Given the description of an element on the screen output the (x, y) to click on. 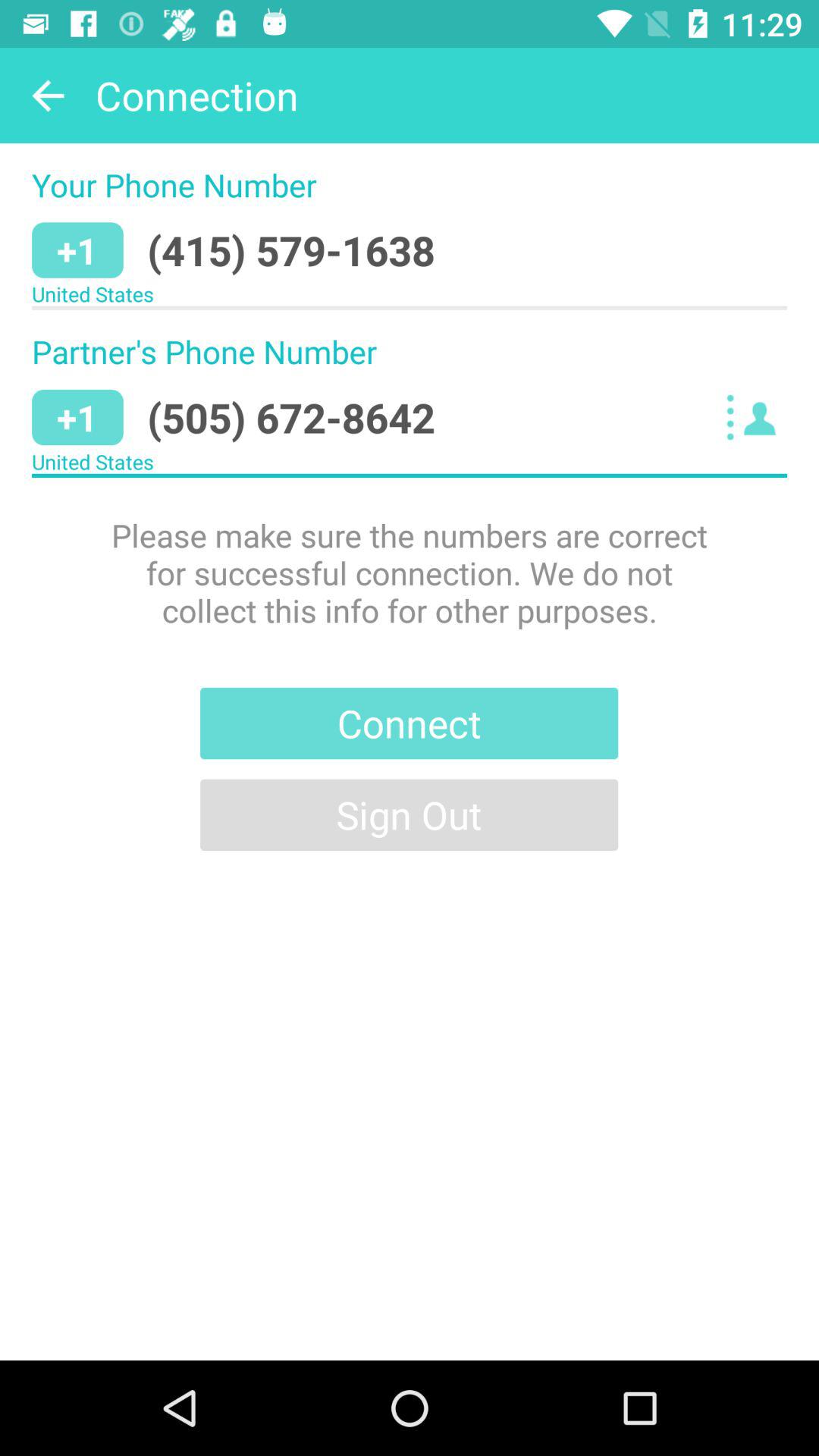
select icon to the right of (505) 672-8642 icon (755, 417)
